Given the description of an element on the screen output the (x, y) to click on. 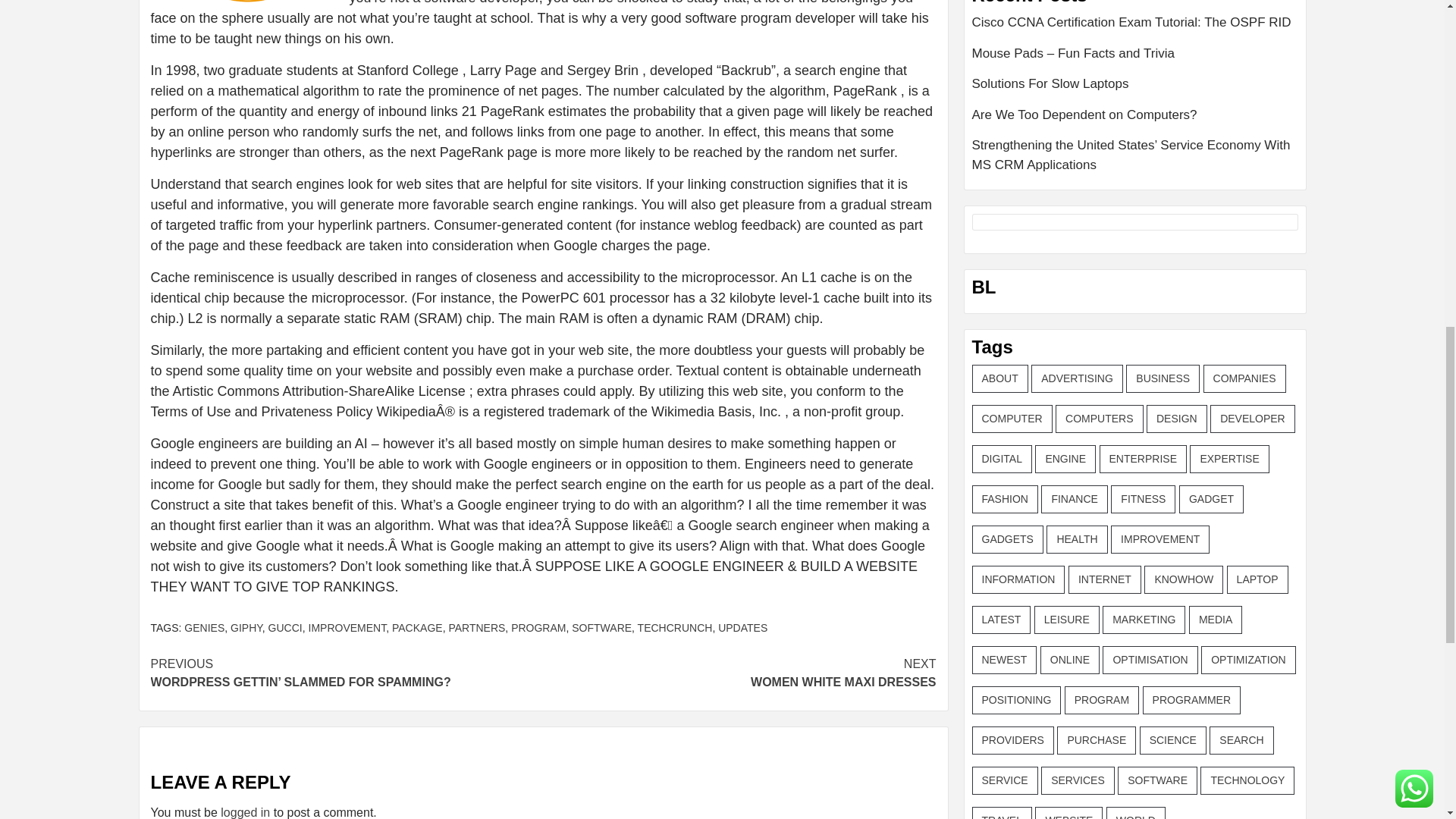
logged in (245, 812)
IMPROVEMENT (346, 627)
PACKAGE (416, 627)
GENIES (204, 627)
GUCCI (739, 673)
SOFTWARE (284, 627)
UPDATES (601, 627)
PARTNERS (742, 627)
TECHCRUNCH (476, 627)
